Given the description of an element on the screen output the (x, y) to click on. 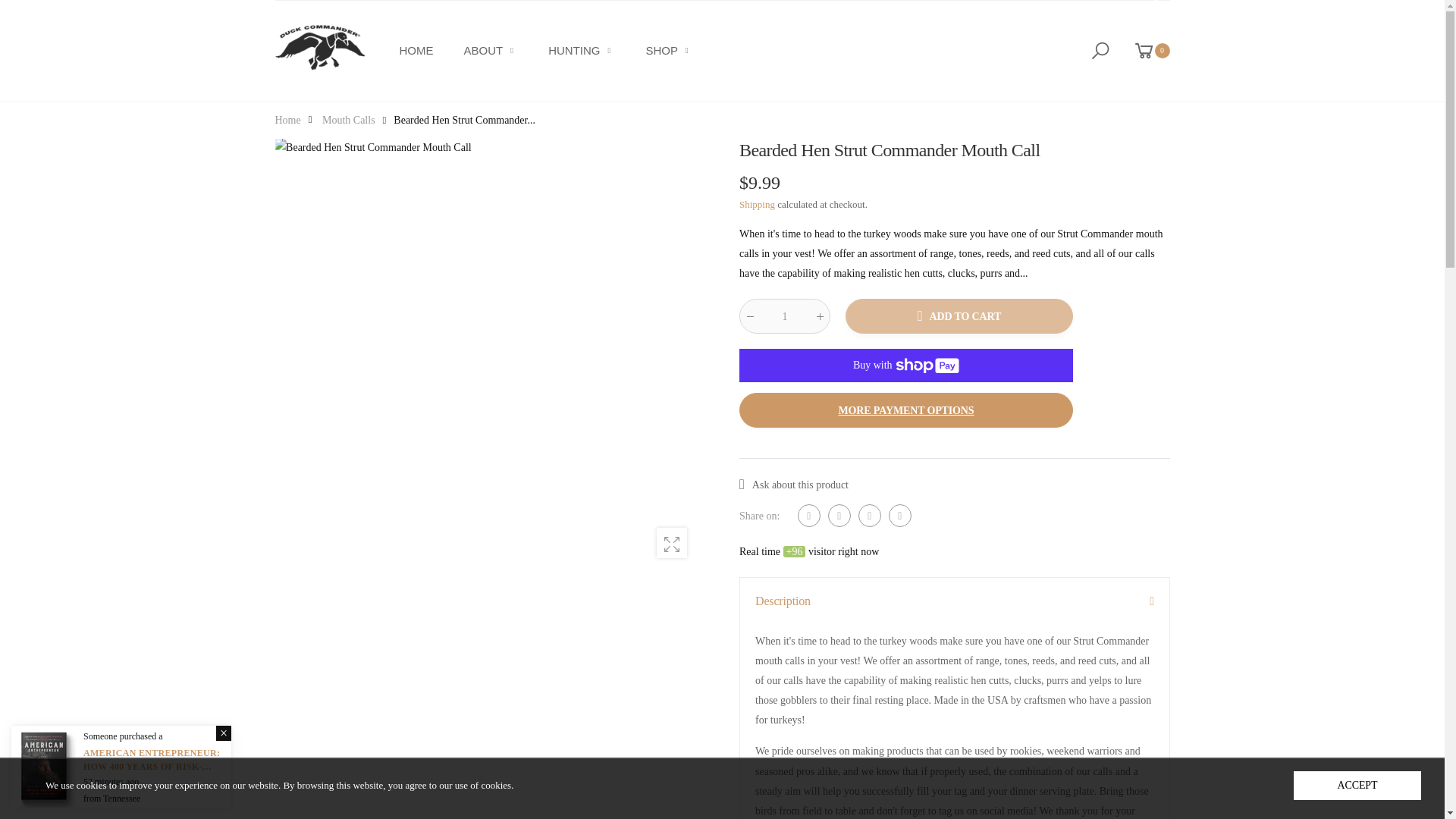
HUNTING (581, 50)
ABOUT (491, 50)
1 (783, 315)
SHOP (670, 50)
